Given the description of an element on the screen output the (x, y) to click on. 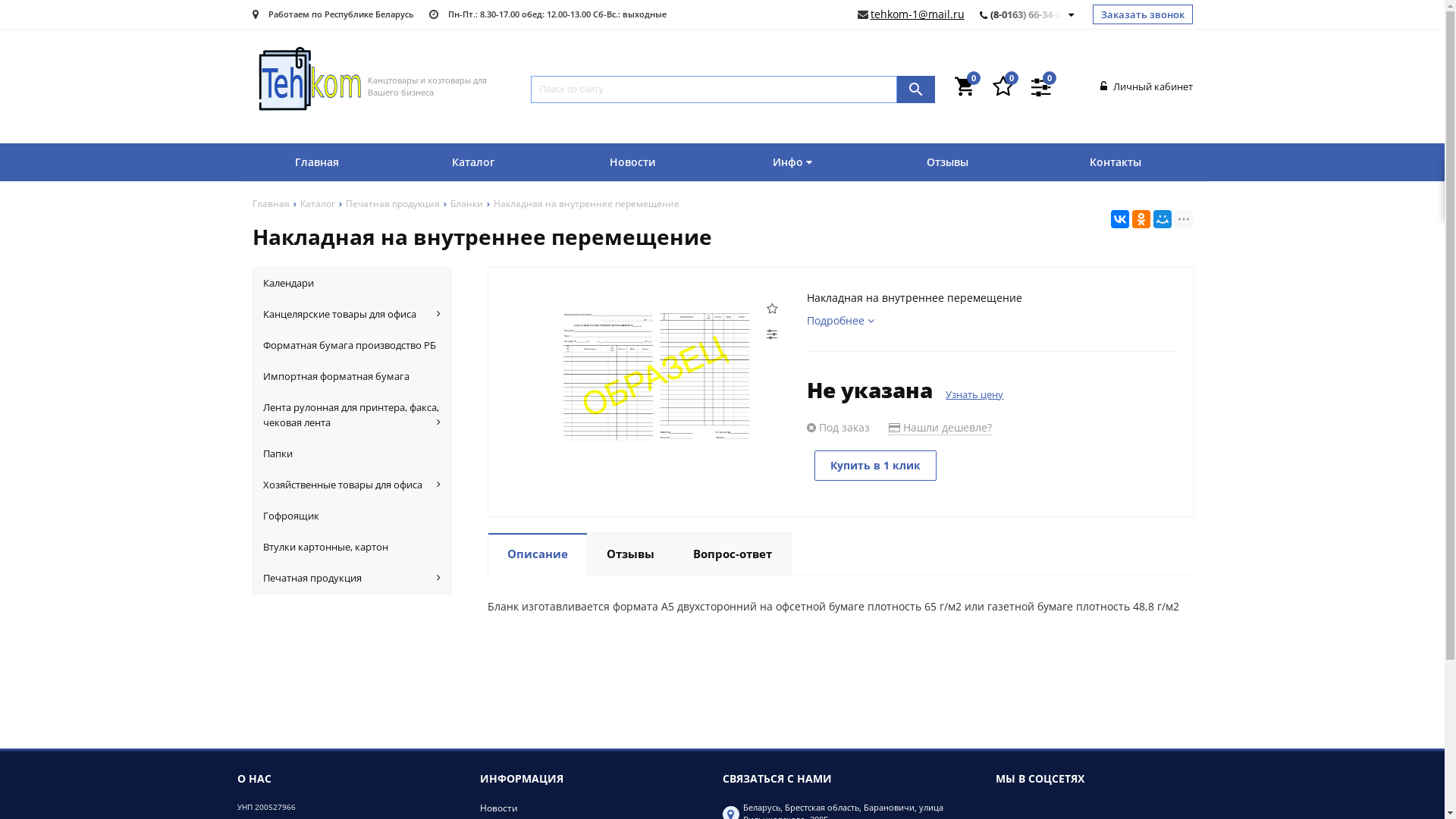
(8-0163) 66-34-6 Element type: text (1028, 14)
0 Element type: text (1003, 86)
search Element type: text (916, 89)
tehkom-1@mail.ru Element type: text (917, 13)
local_grocery_store
0 Element type: text (965, 86)
0 Element type: text (1041, 86)
